Given the description of an element on the screen output the (x, y) to click on. 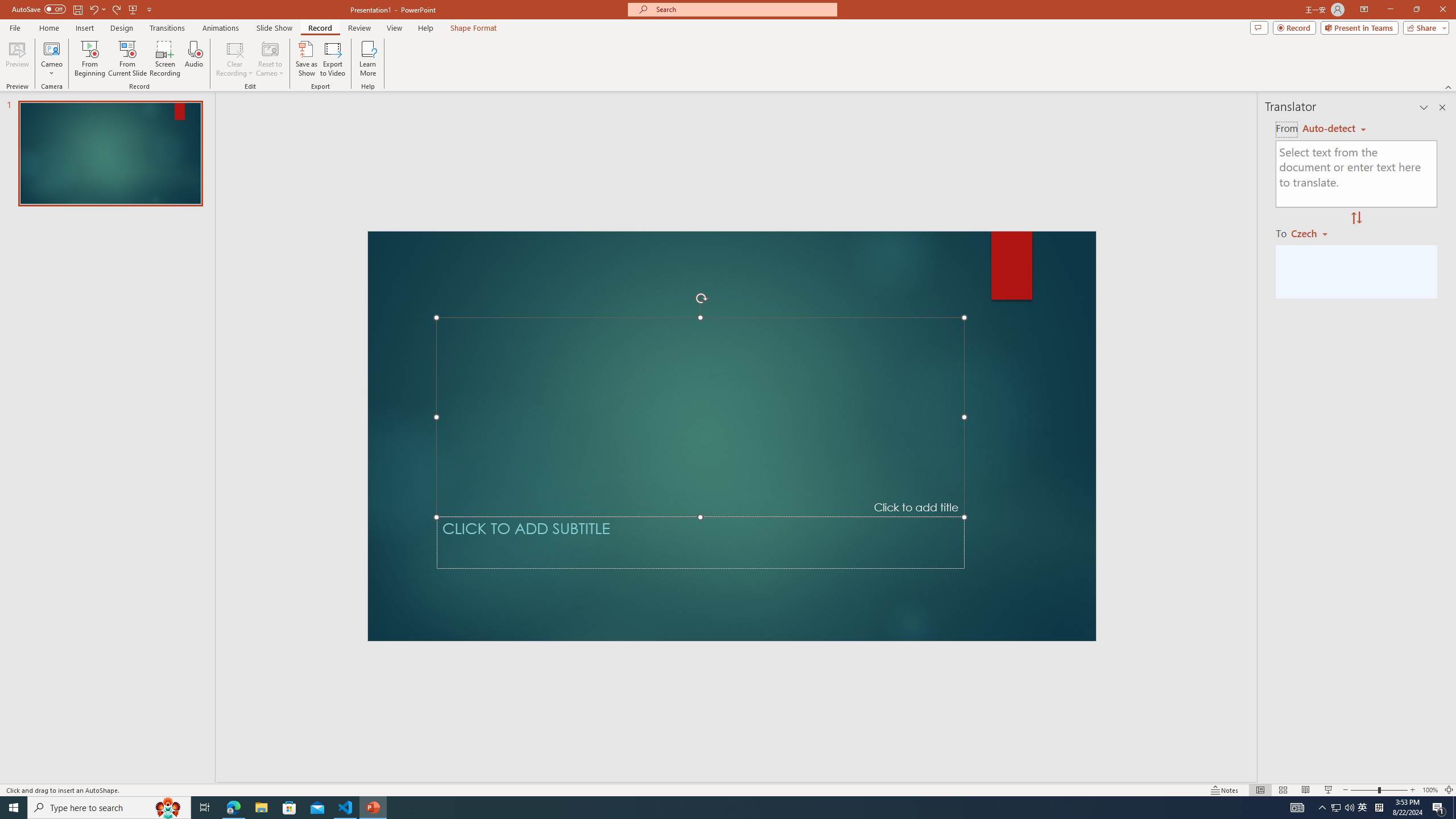
Zoom to Fit  (1449, 790)
Review (359, 28)
Comments (1259, 27)
Restore Down (1416, 9)
Normal (1260, 790)
From Beginning (133, 9)
Shape Format (473, 28)
Screen Recording (165, 58)
Audio (193, 58)
View (395, 28)
Zoom 100% (1430, 790)
Learn More (368, 58)
Auto-detect (1334, 128)
Reset to Cameo (269, 58)
